Given the description of an element on the screen output the (x, y) to click on. 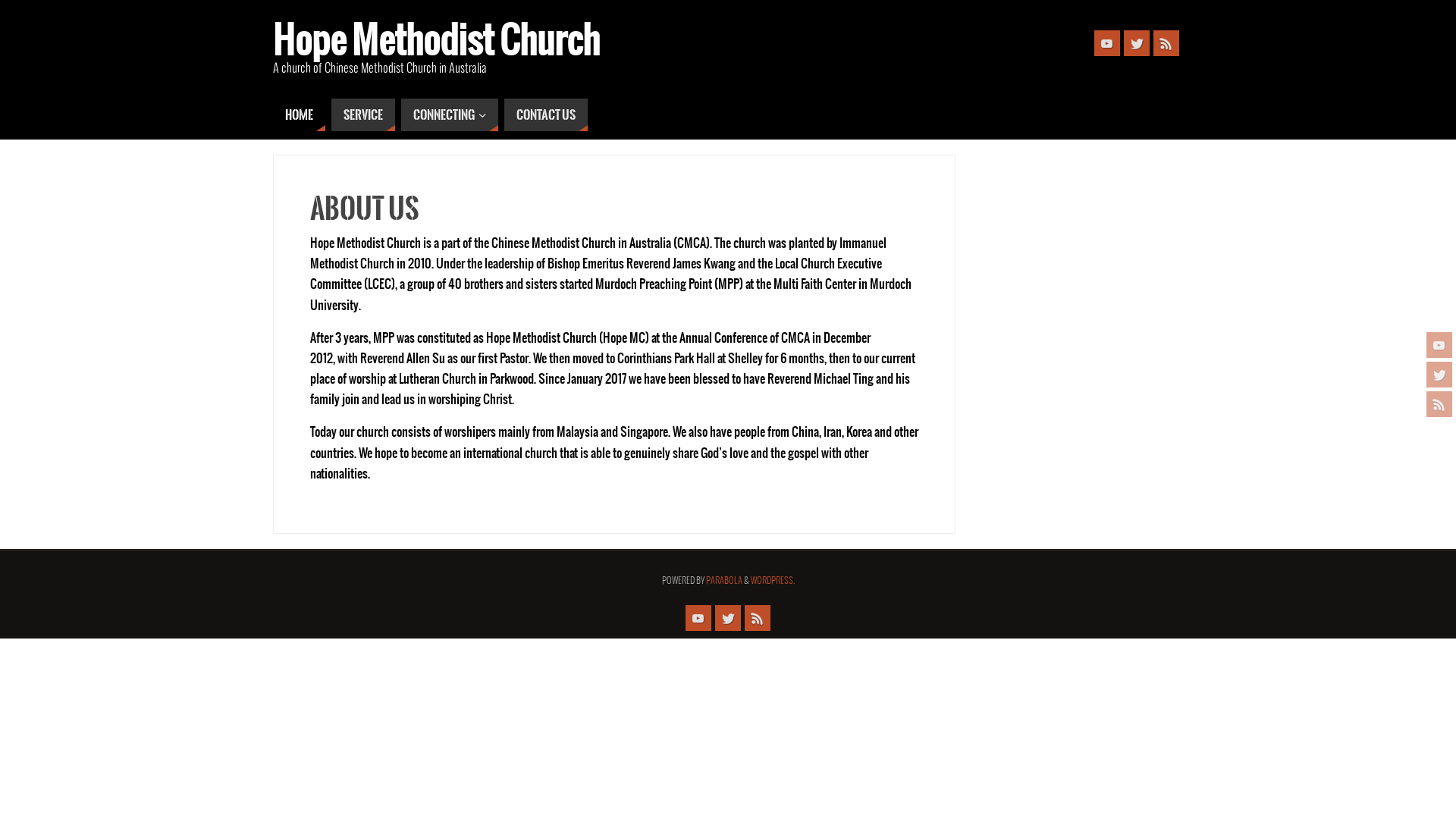
Hope Methodist Church Element type: text (436, 42)
WORDPRESS. Element type: text (772, 581)
YouTube Element type: hover (698, 617)
RSS Element type: hover (1439, 404)
RSS Element type: hover (1166, 43)
CONTACT US Element type: text (545, 114)
Twitter Element type: hover (1136, 43)
Home Element type: text (299, 114)
Twitter Element type: hover (1439, 374)
SERVICE Element type: text (363, 114)
CONNECTING Element type: text (449, 114)
YouTube Element type: hover (1439, 344)
PARABOLA Element type: text (723, 581)
RSS Element type: hover (757, 617)
YouTube Element type: hover (1107, 43)
Twitter Element type: hover (727, 617)
